Given the description of an element on the screen output the (x, y) to click on. 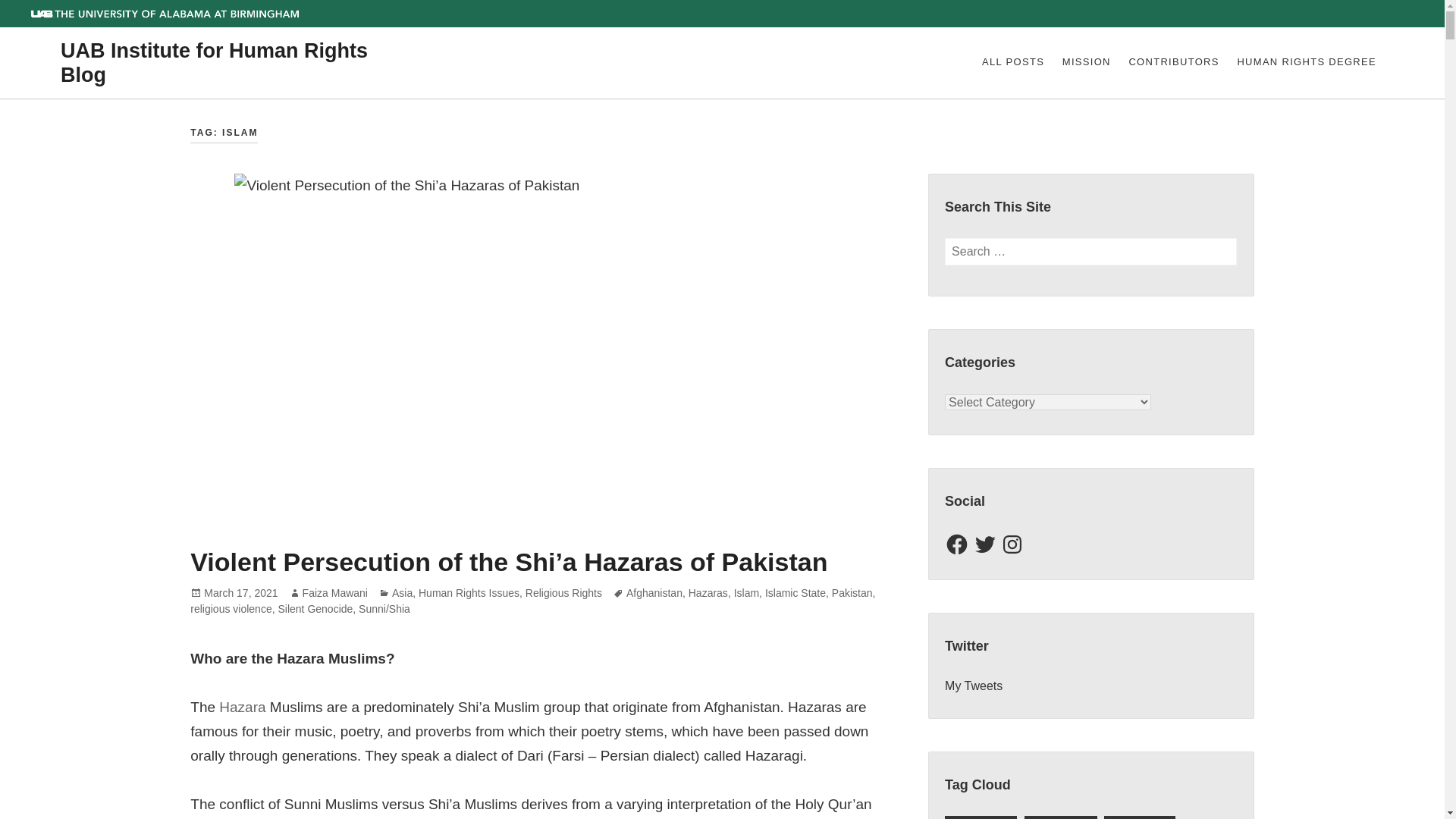
ALL POSTS (1012, 63)
UAB Institute for Human Rights Blog (214, 63)
Islam (745, 593)
Religious Rights (563, 593)
Asia (401, 593)
March 17, 2021 (240, 593)
Hazaras (708, 593)
Human Rights Issues (469, 593)
Faiza Mawani (335, 593)
HUMAN RIGHTS DEGREE (1305, 63)
Hazara (241, 707)
religious violence (230, 608)
Islamic State (795, 593)
